Given the description of an element on the screen output the (x, y) to click on. 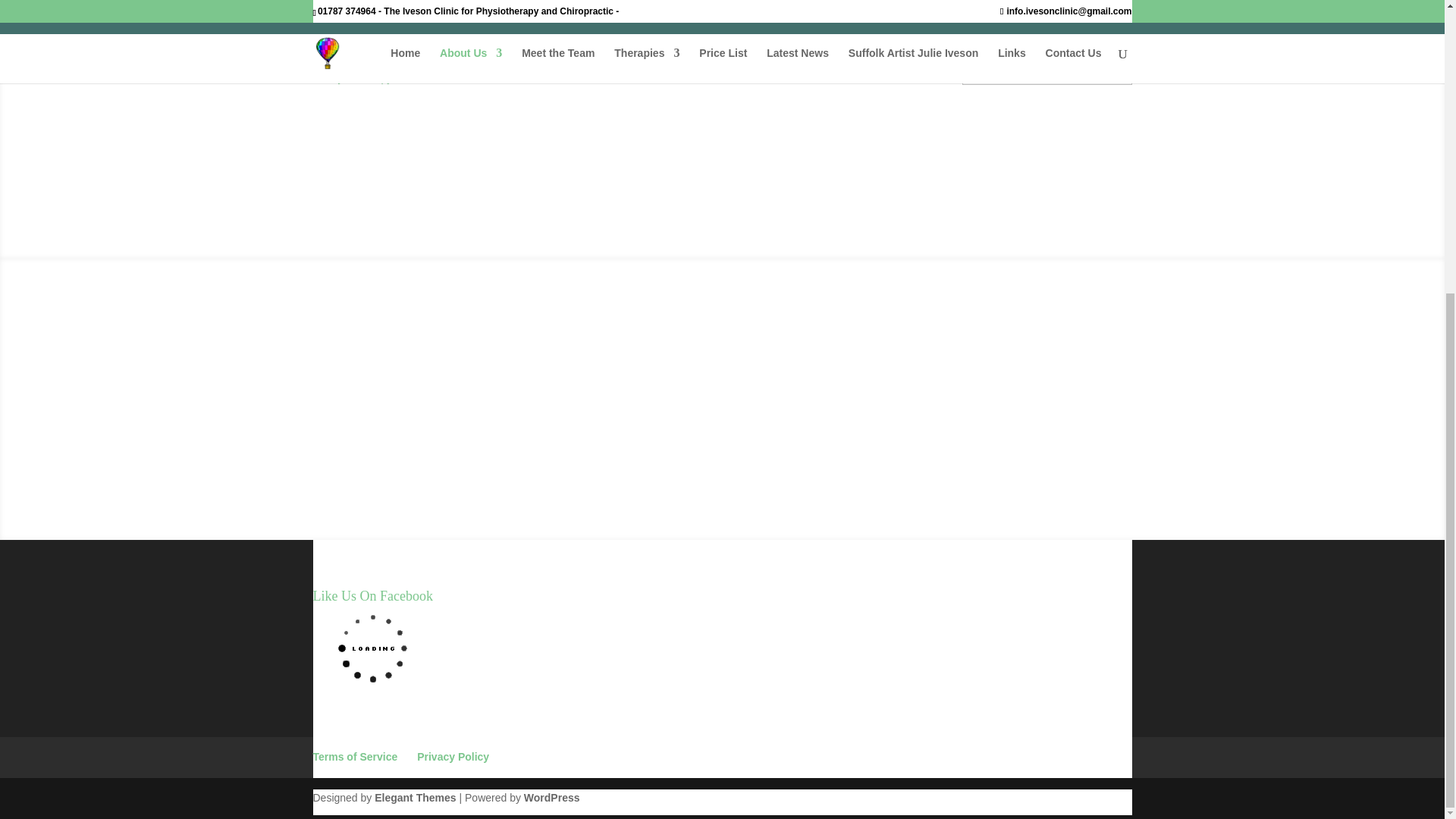
Premium WordPress Themes (414, 797)
Privacy Policy (452, 756)
Elegant Themes (414, 797)
Contact Us (722, 428)
WordPress (551, 797)
Terms of Service (355, 756)
